Given the description of an element on the screen output the (x, y) to click on. 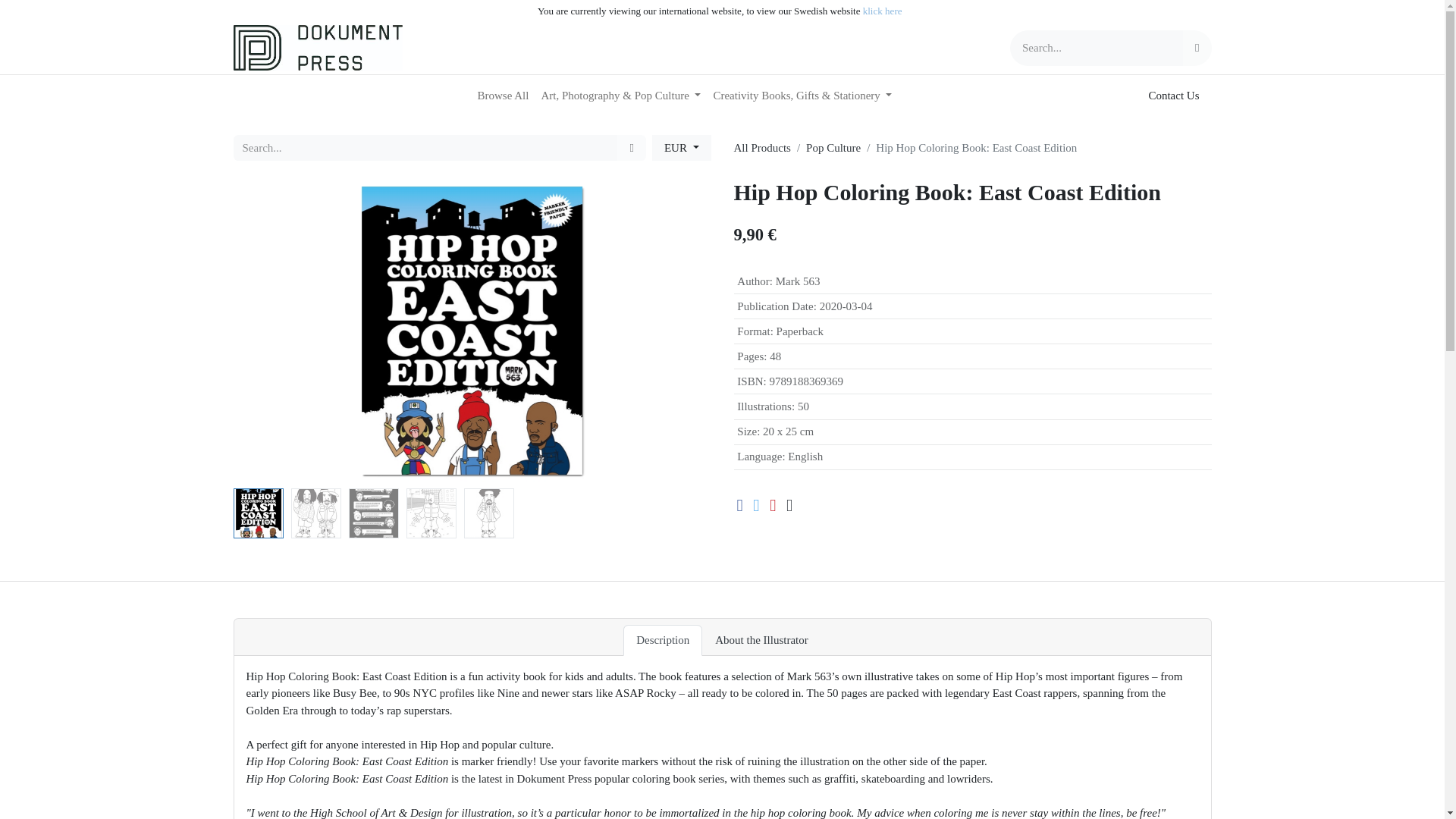
Browse All (503, 95)
Dokument Press (317, 47)
EUR (681, 148)
klick here (882, 10)
Contact Us (1173, 96)
Search (631, 148)
